Given the description of an element on the screen output the (x, y) to click on. 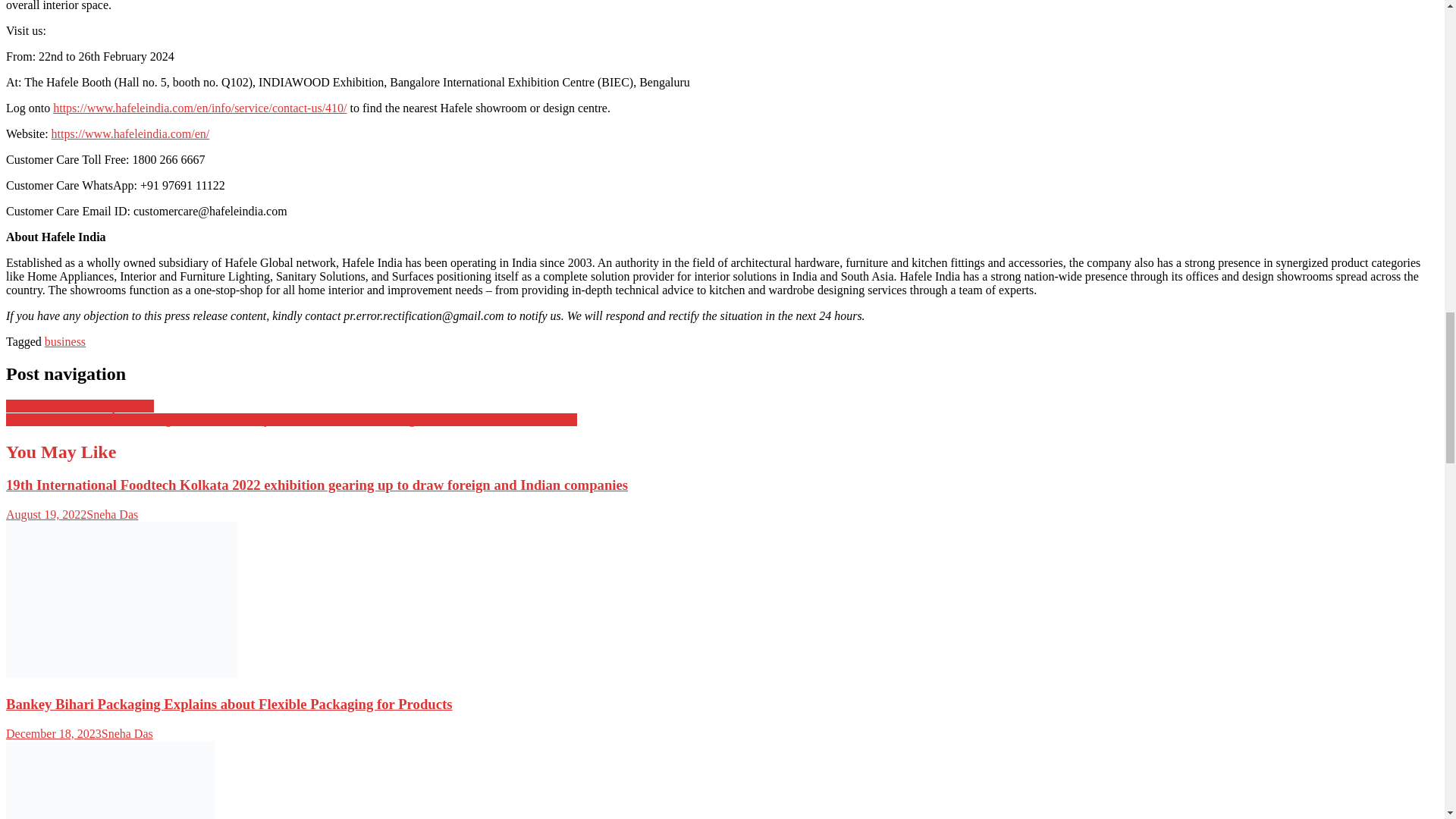
Lithos Quartz Sinks by Hafele (79, 405)
Sneha Das (126, 733)
December 18, 2023 (53, 733)
business (65, 341)
August 19, 2022 (45, 513)
Sneha Das (111, 513)
